Given the description of an element on the screen output the (x, y) to click on. 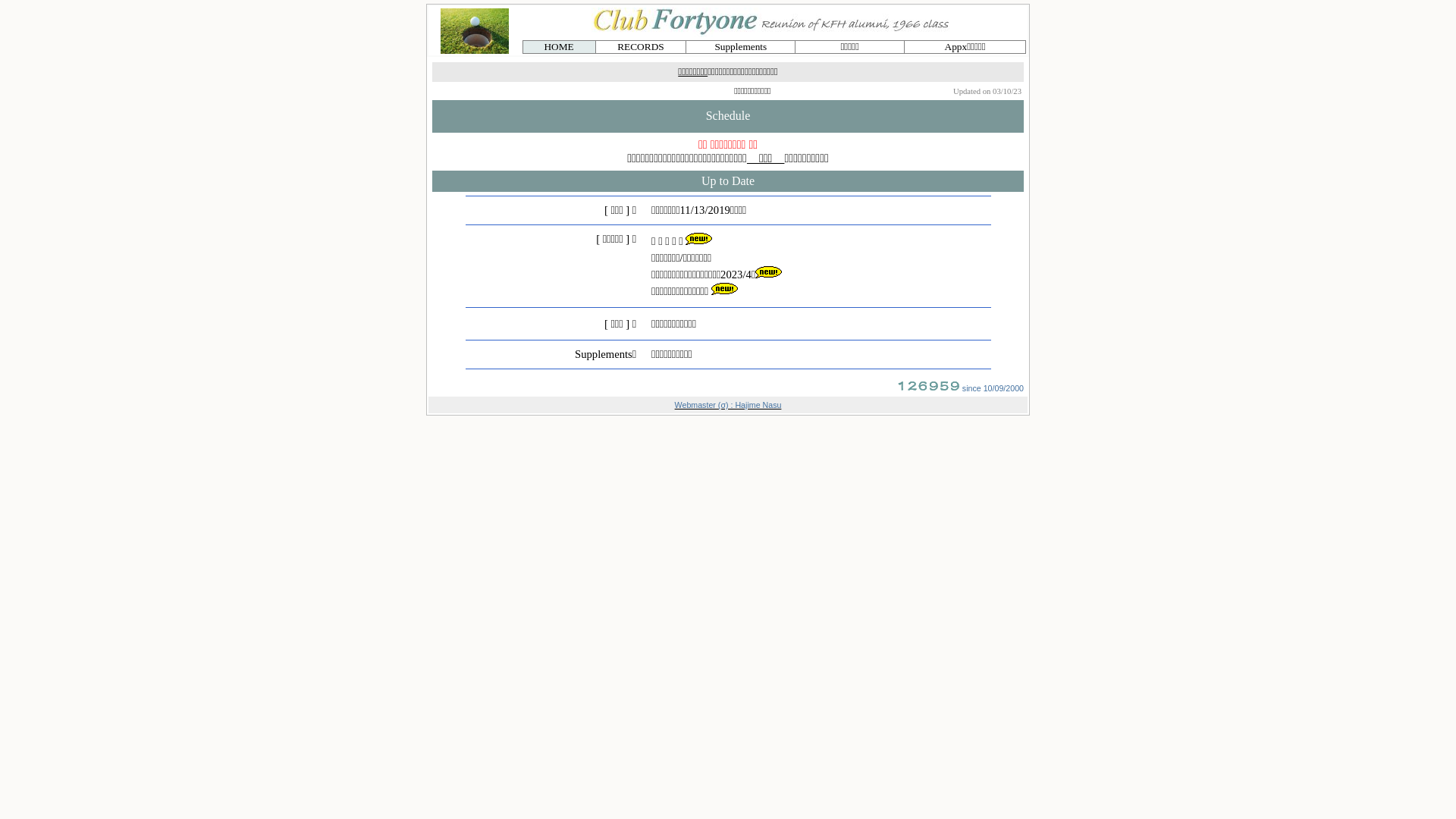
RECORDS Element type: text (640, 46)
HOME Element type: text (558, 46)
Supplements Element type: text (740, 46)
